Given the description of an element on the screen output the (x, y) to click on. 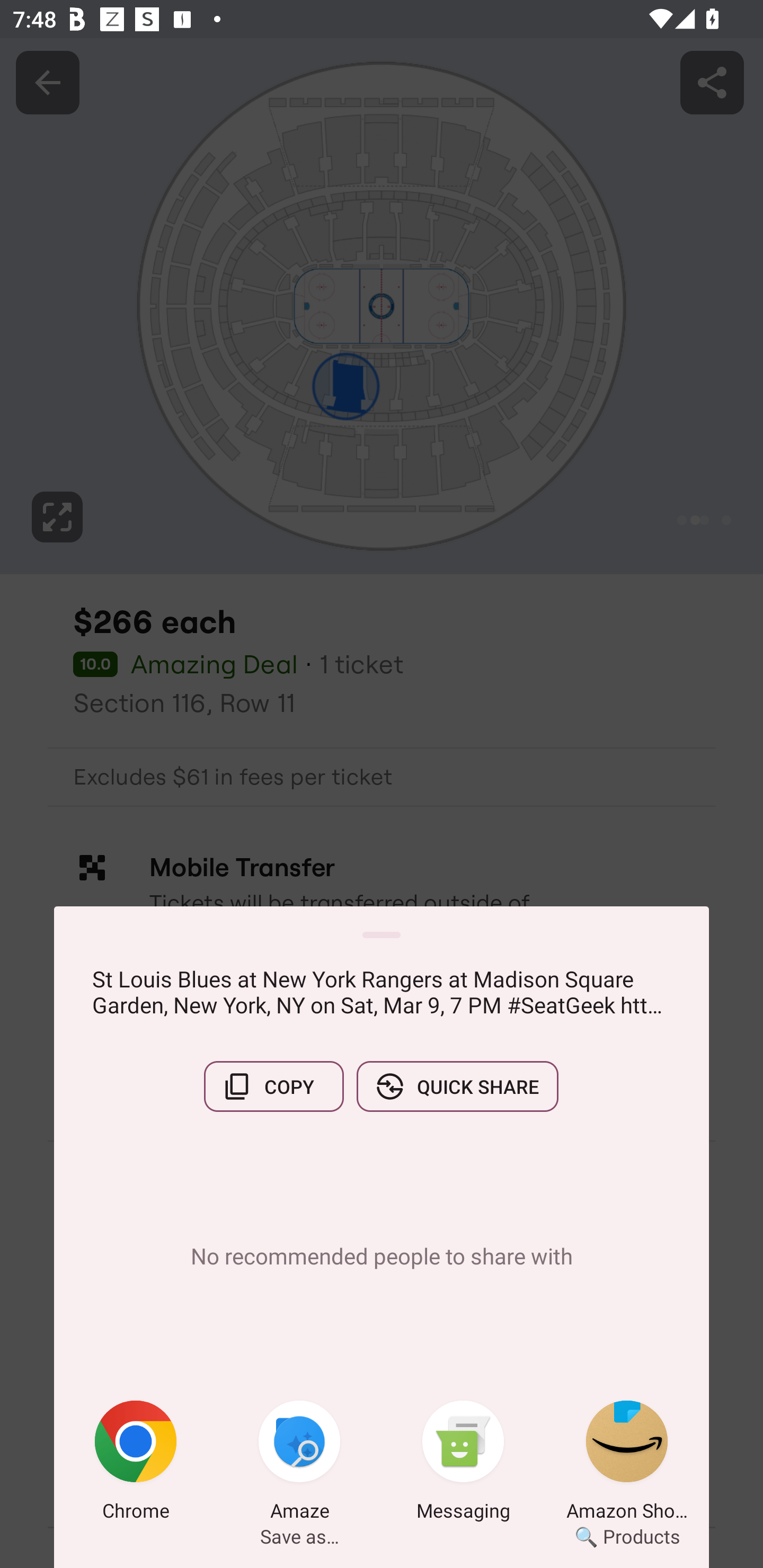
COPY (273, 1086)
QUICK SHARE (457, 1086)
Chrome (135, 1463)
Amaze Save as… (299, 1463)
Messaging (463, 1463)
Amazon Shopping 🔍 Products (626, 1463)
